Given the description of an element on the screen output the (x, y) to click on. 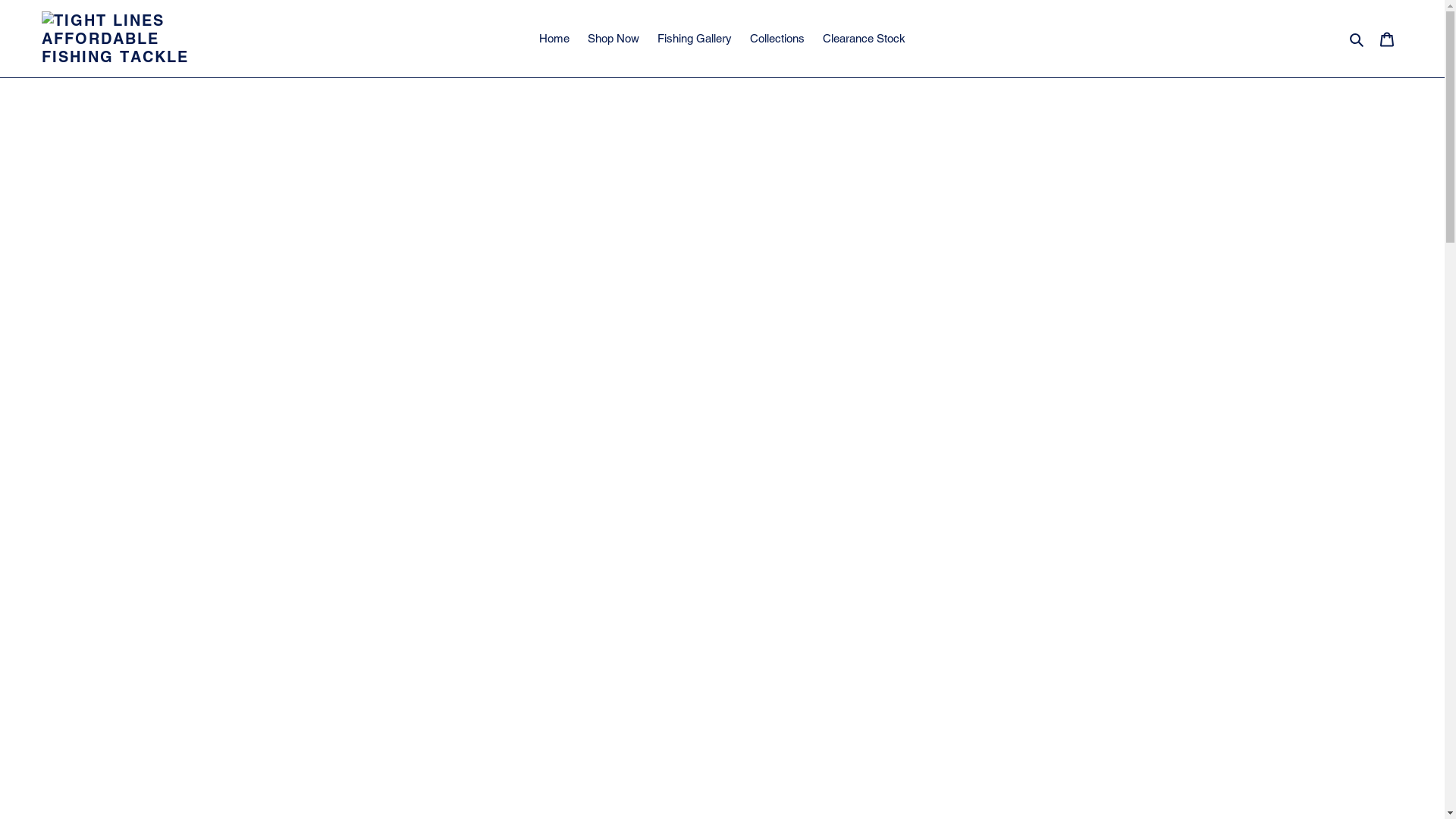
Collections Element type: text (777, 39)
Home Element type: text (554, 39)
Shop Now Element type: text (613, 39)
Clearance Stock Element type: text (864, 39)
Search Element type: text (1357, 38)
Cart Element type: text (1386, 38)
Fishing Gallery Element type: text (694, 39)
